Given the description of an element on the screen output the (x, y) to click on. 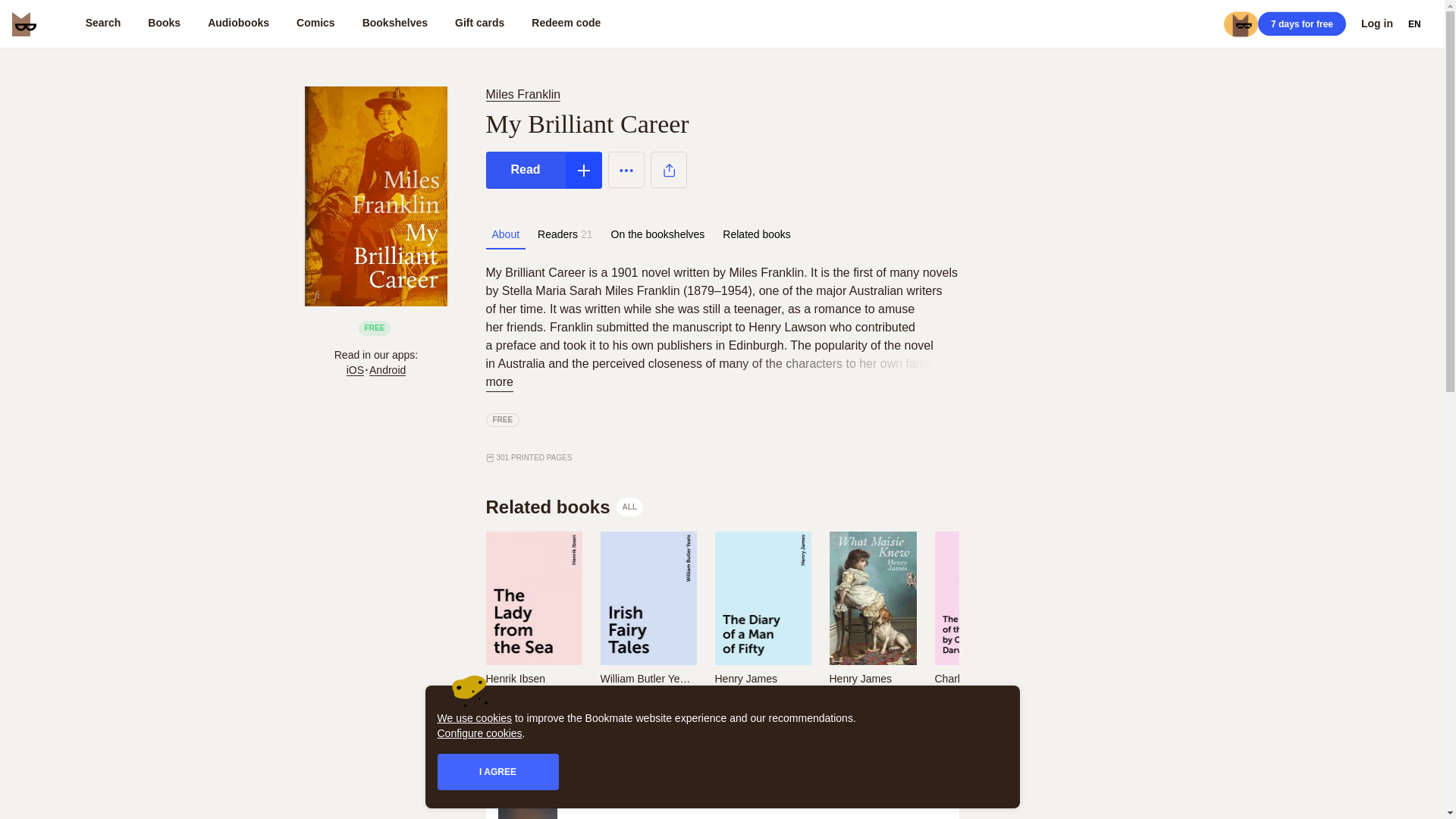
Audiobooks (237, 24)
Miles Franklin (525, 93)
Henry James (860, 678)
About (504, 234)
Henry James (745, 678)
Gift cards (479, 24)
Related books (756, 234)
We use cookies (474, 717)
The Lady from the Sea (532, 699)
Redeem code (565, 24)
FREE (501, 419)
The Voyage of the Beagle by Charles Darwin (981, 699)
The Diary of a Man of Fifty (761, 699)
Bookshelves (394, 24)
What Maisie Knew (872, 699)
